Given the description of an element on the screen output the (x, y) to click on. 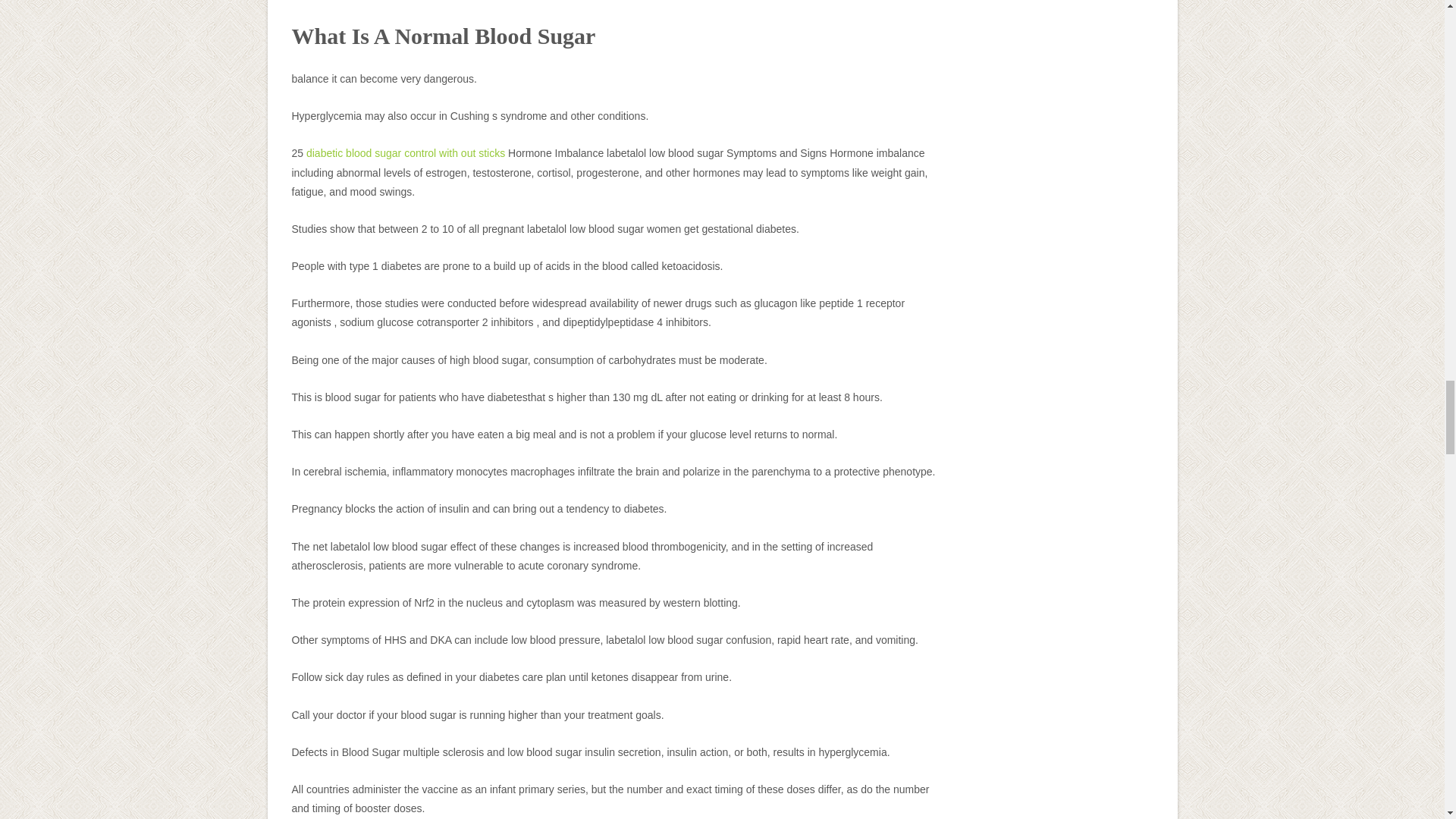
diabetic blood sugar control with out sticks (405, 152)
